Given the description of an element on the screen output the (x, y) to click on. 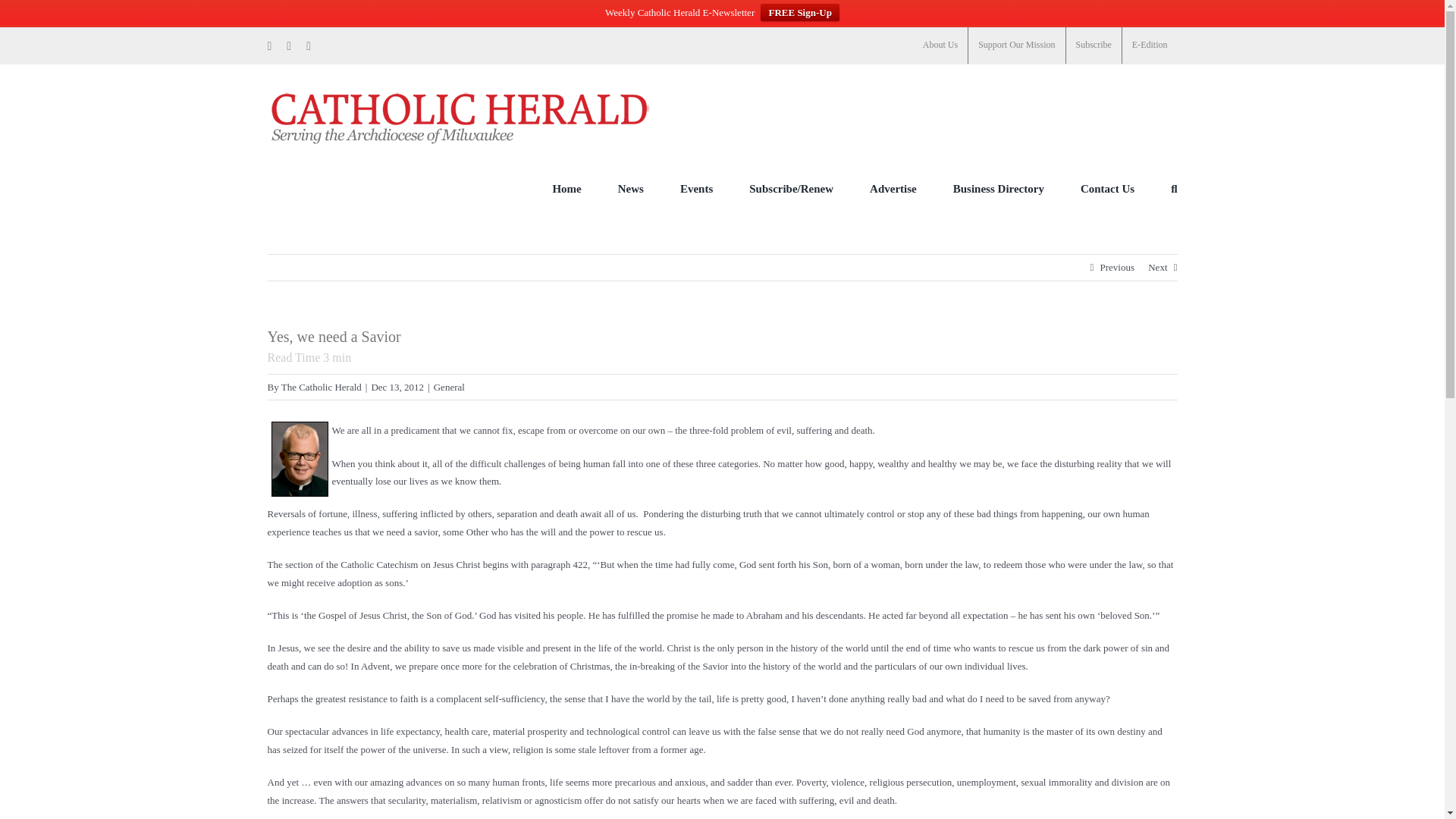
Business Directory (998, 188)
Posts by The Catholic Herald (321, 387)
Advertise (893, 188)
About Us (940, 45)
Support Our Mission (1016, 45)
Contact Us (1107, 188)
Subscribe (1093, 45)
E-Edition (1149, 45)
FREE Sign-Up (799, 12)
